Given the description of an element on the screen output the (x, y) to click on. 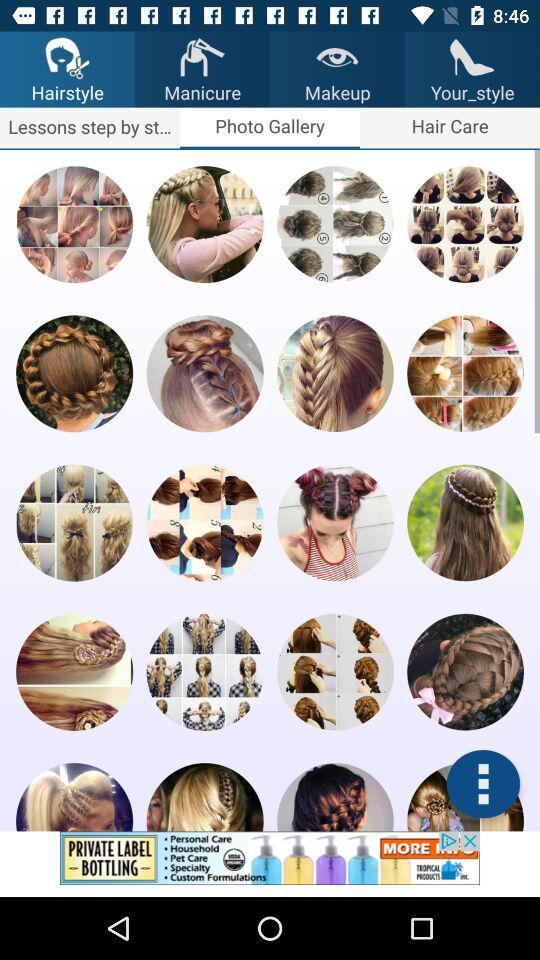
opens this nail style (335, 522)
